Given the description of an element on the screen output the (x, y) to click on. 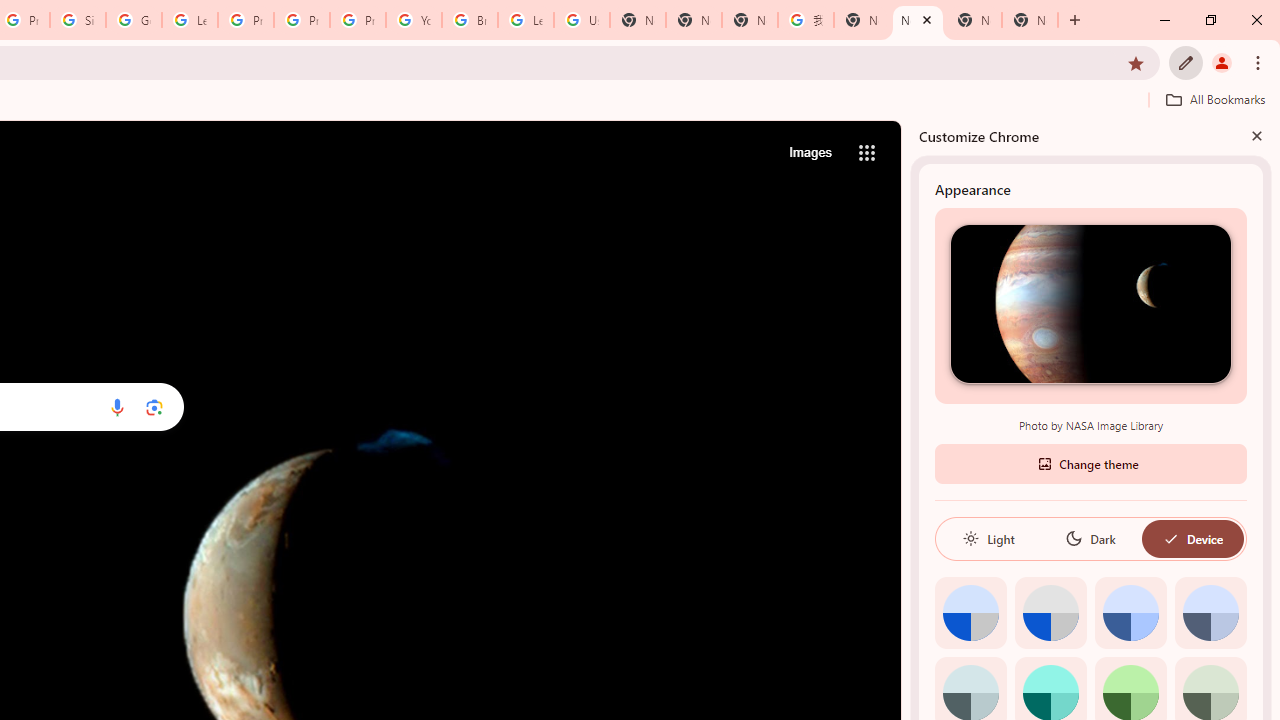
Light (988, 538)
Photo by NASA Image Library (1090, 303)
YouTube (413, 20)
